Given the description of an element on the screen output the (x, y) to click on. 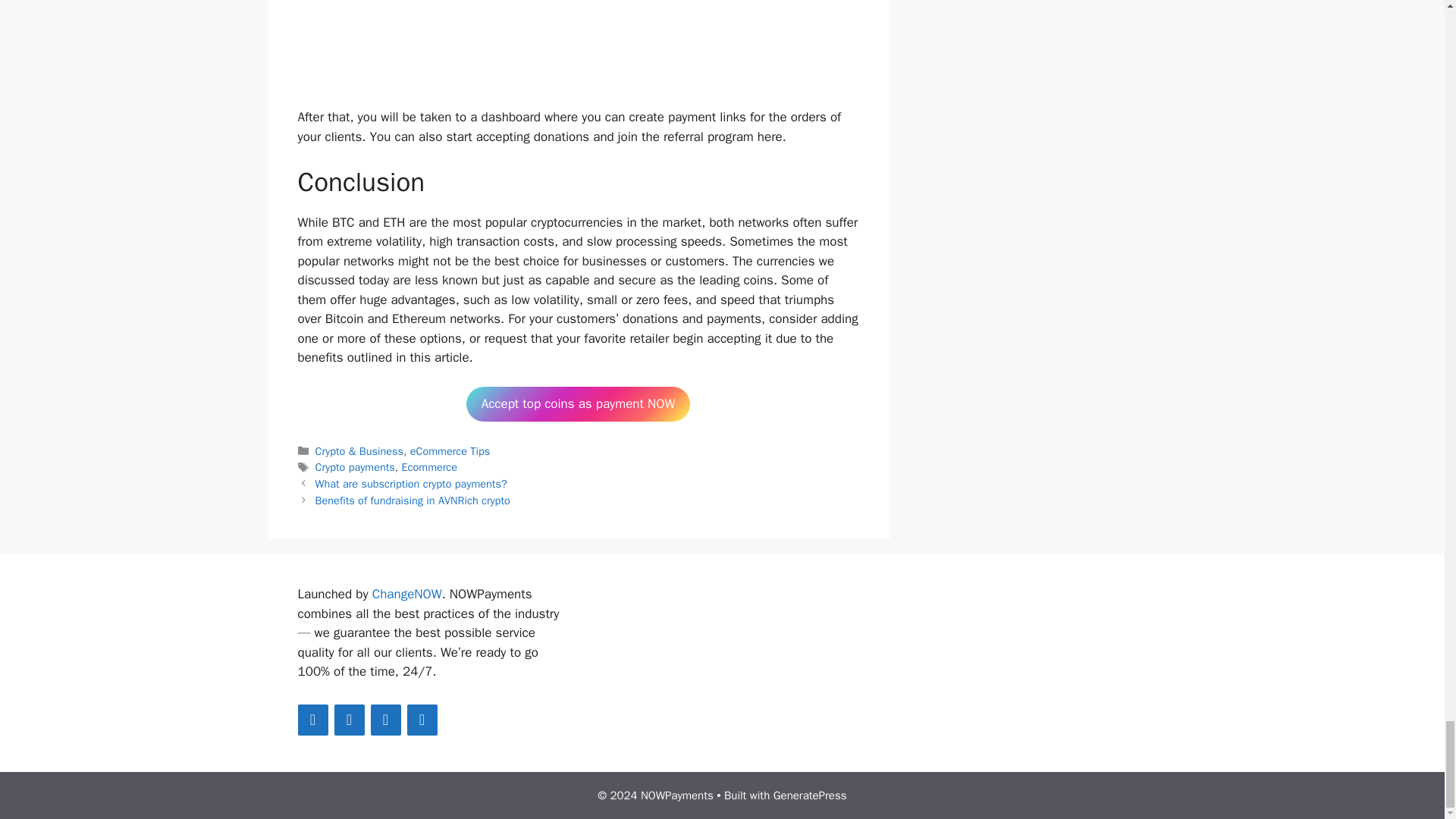
Ecommerce (429, 467)
Twitter (312, 719)
Accept top coins as payment NOW (577, 403)
What are subscription crypto payments? (410, 483)
Crypto payments (354, 467)
Facebook (348, 719)
Reddit (384, 719)
YouTube (421, 719)
eCommerce Tips (450, 450)
